Given the description of an element on the screen output the (x, y) to click on. 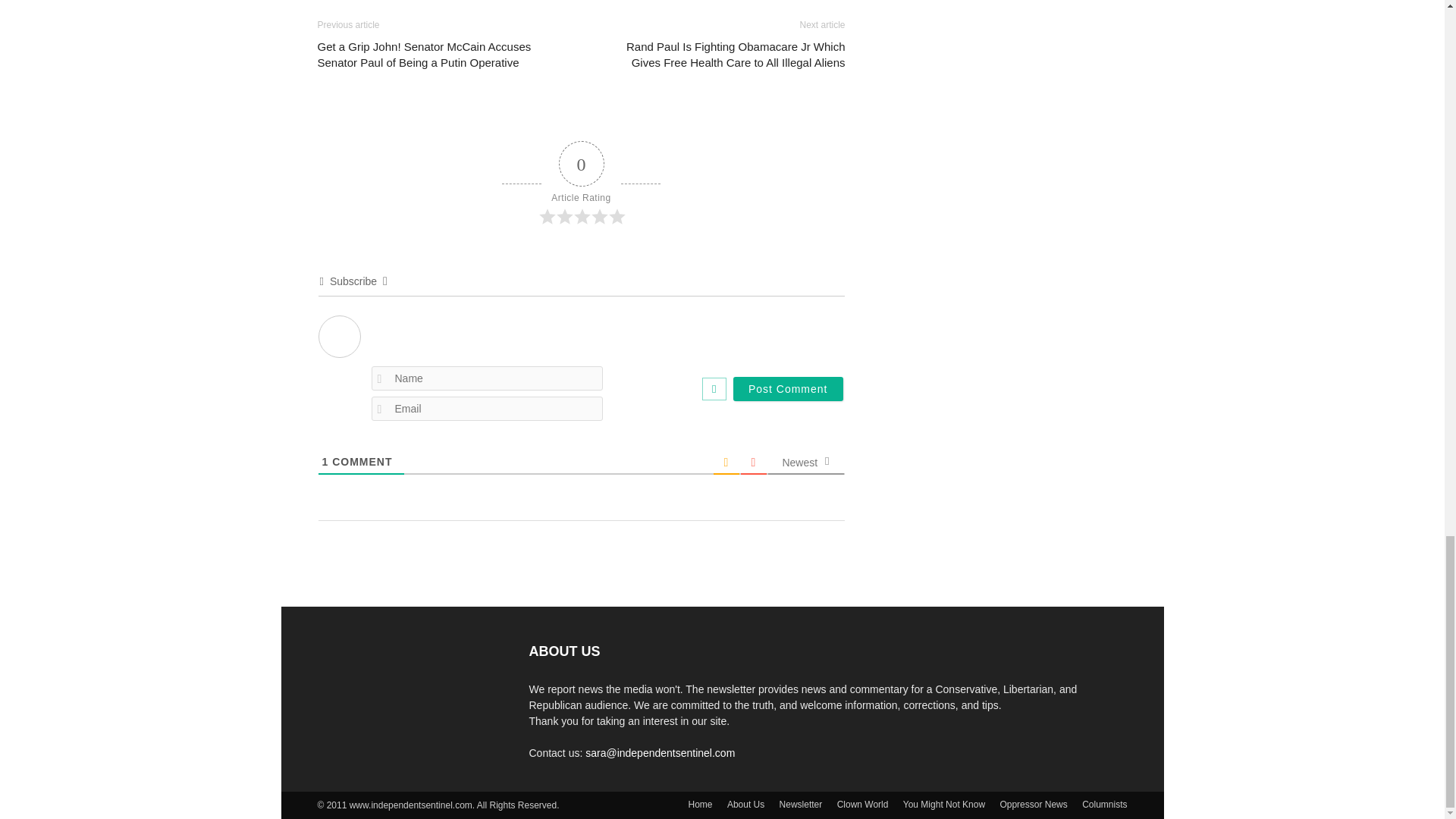
Post Comment (788, 388)
